Given the description of an element on the screen output the (x, y) to click on. 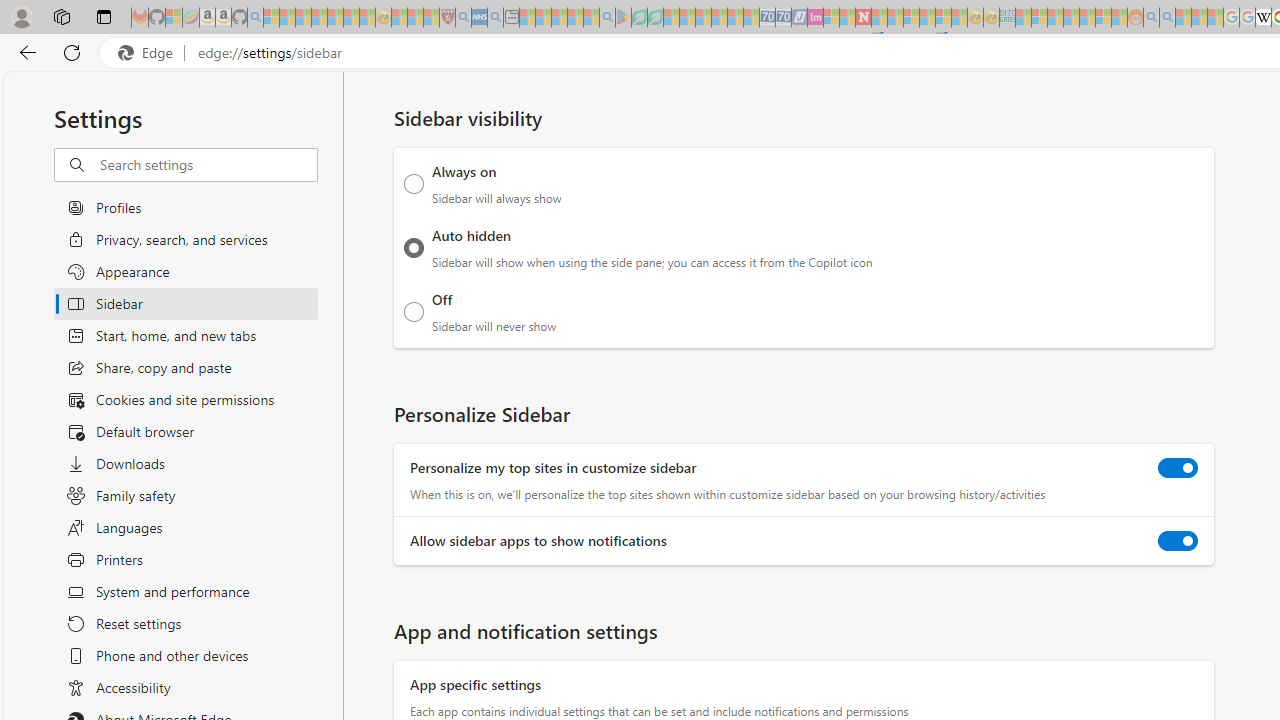
Always on Sidebar will always show (413, 183)
Edge (150, 53)
Local - MSN - Sleeping (431, 17)
